Given the description of an element on the screen output the (x, y) to click on. 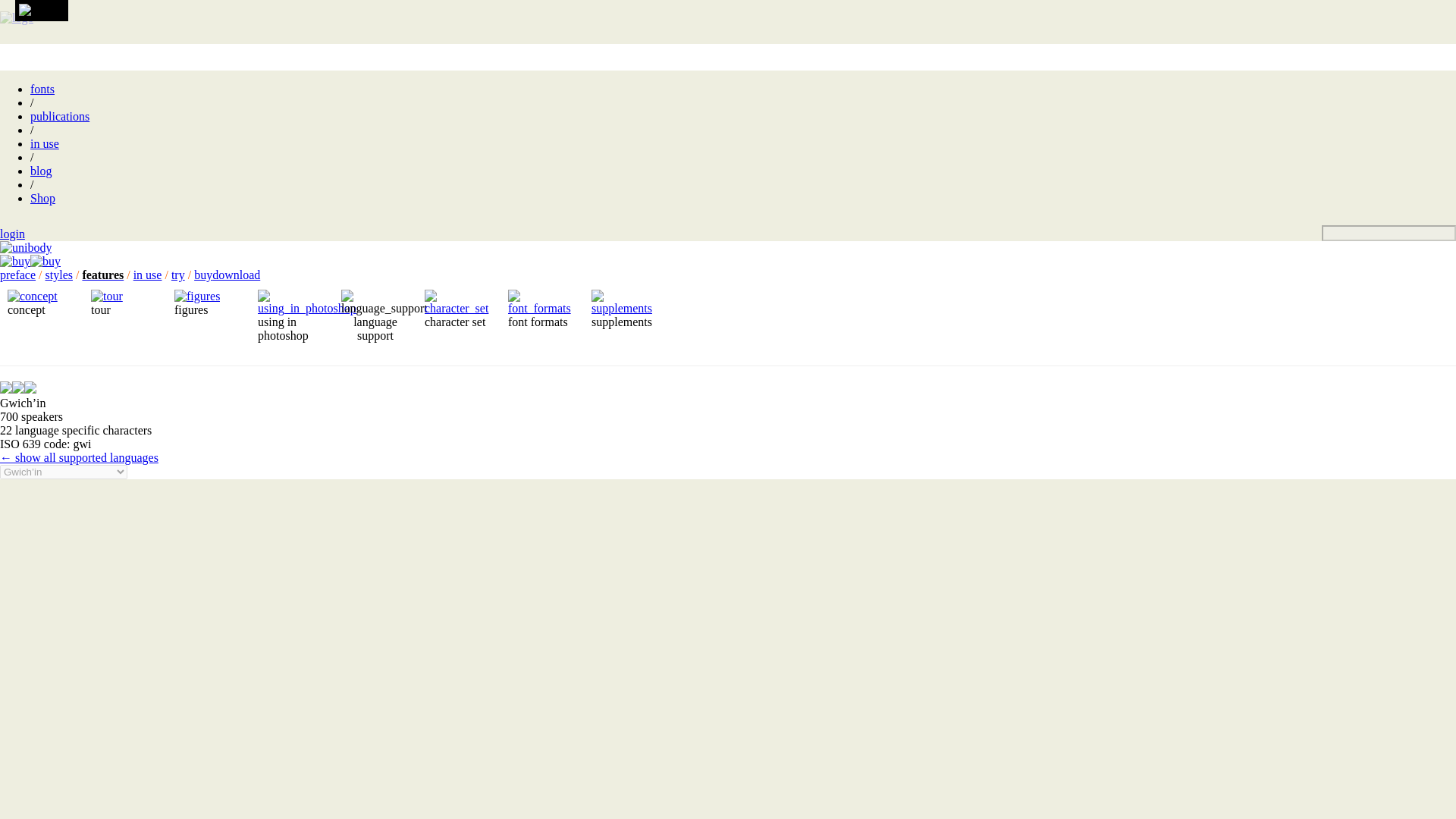
blog (40, 170)
fonts (42, 88)
preface (17, 274)
publications (59, 115)
login (12, 233)
Shop (42, 197)
styles (58, 274)
in use (44, 143)
